Given the description of an element on the screen output the (x, y) to click on. 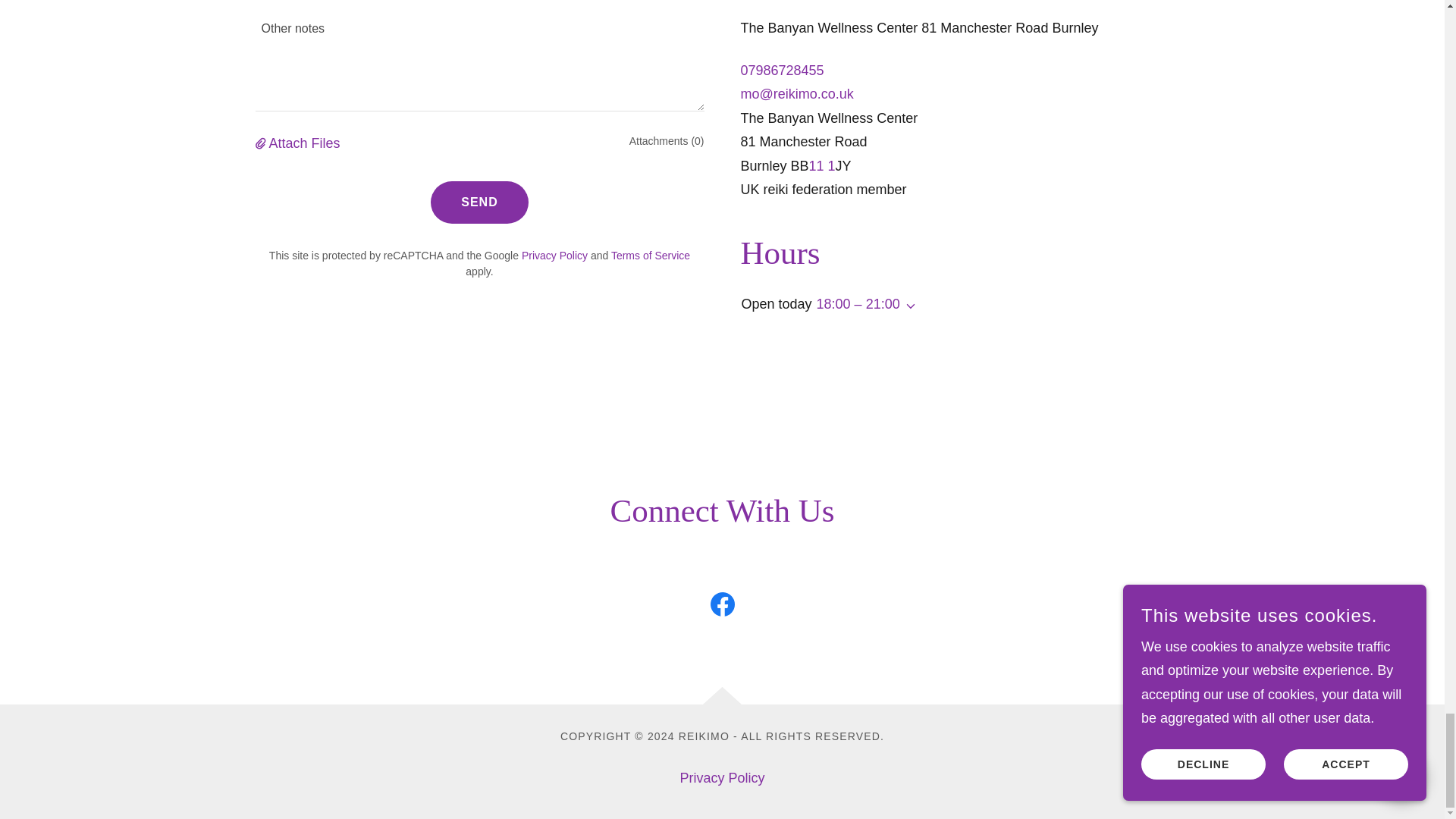
11 1 (822, 165)
SEND (478, 201)
07986728455 (781, 70)
Privacy Policy (554, 255)
Privacy Policy (721, 778)
Terms of Service (650, 255)
